Given the description of an element on the screen output the (x, y) to click on. 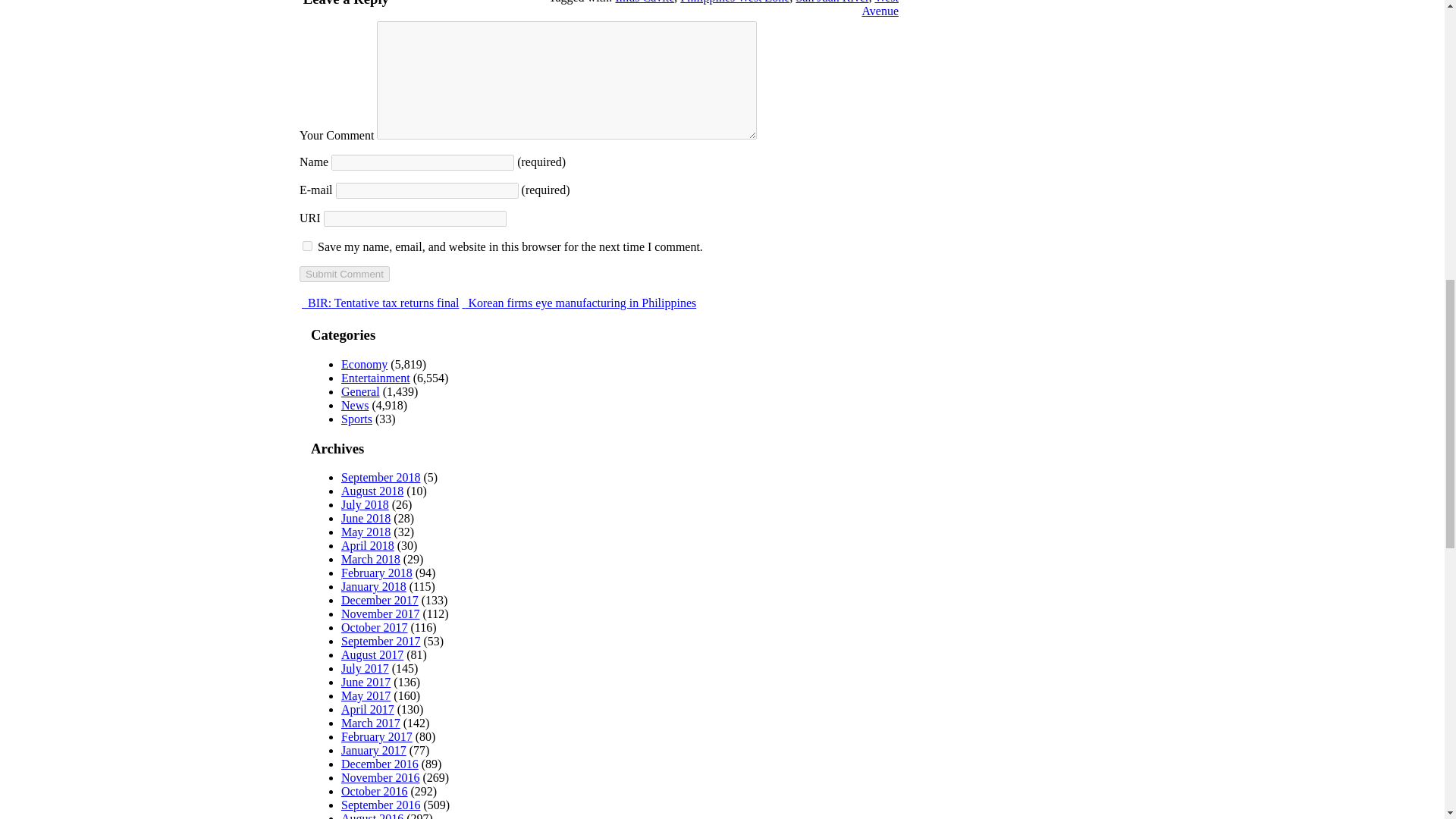
yes (307, 245)
West Avenue (879, 8)
July 2017 (364, 667)
  BIR: Tentative tax returns final (379, 302)
September 2017 (380, 640)
August 2018 (371, 490)
August 2017 (371, 654)
April 2018 (367, 545)
October 2017 (373, 626)
Submit Comment (344, 273)
January 2018 (373, 585)
June 2018 (365, 517)
Economy (363, 364)
Submit Comment (344, 273)
General (360, 391)
